Given the description of an element on the screen output the (x, y) to click on. 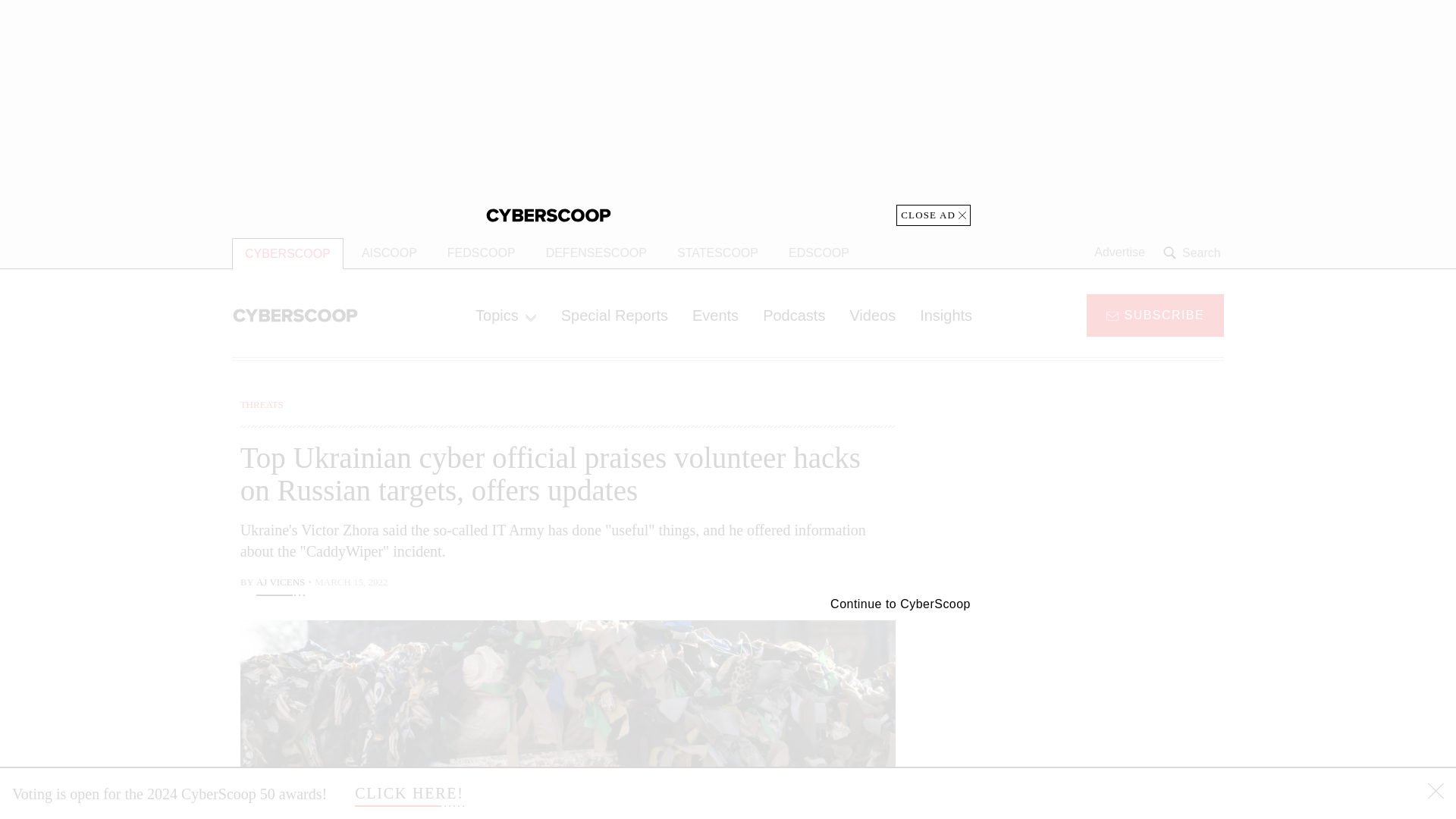
3rd party ad content (1101, 705)
SUBSCRIBE (1155, 314)
EDSCOOP (818, 253)
Search (1193, 252)
3rd party ad content (1101, 492)
DEFENSESCOOP (596, 253)
FEDSCOOP (481, 253)
CYBERSCOOP (287, 253)
Podcasts (794, 315)
AJ Vicens (280, 583)
